Given the description of an element on the screen output the (x, y) to click on. 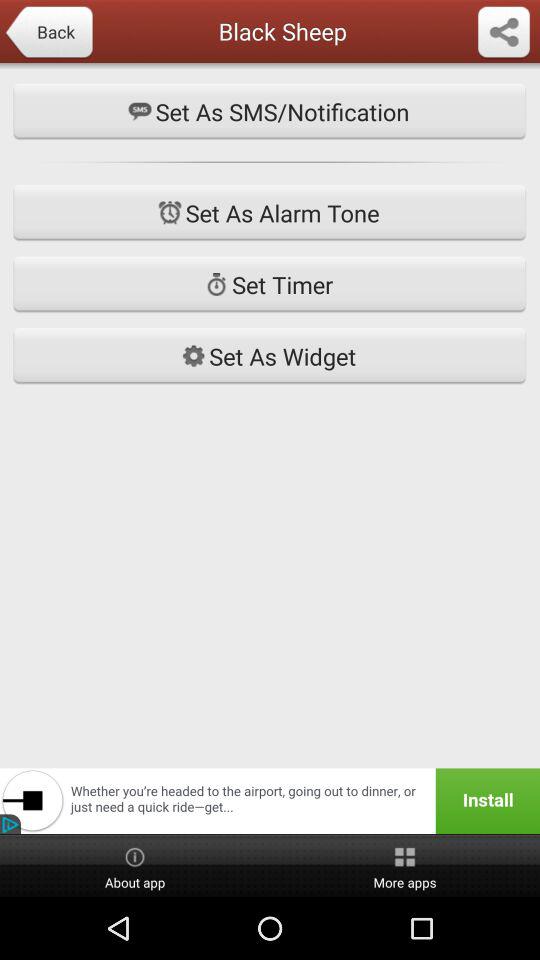
select the icon next to the black sheep item (48, 33)
